Given the description of an element on the screen output the (x, y) to click on. 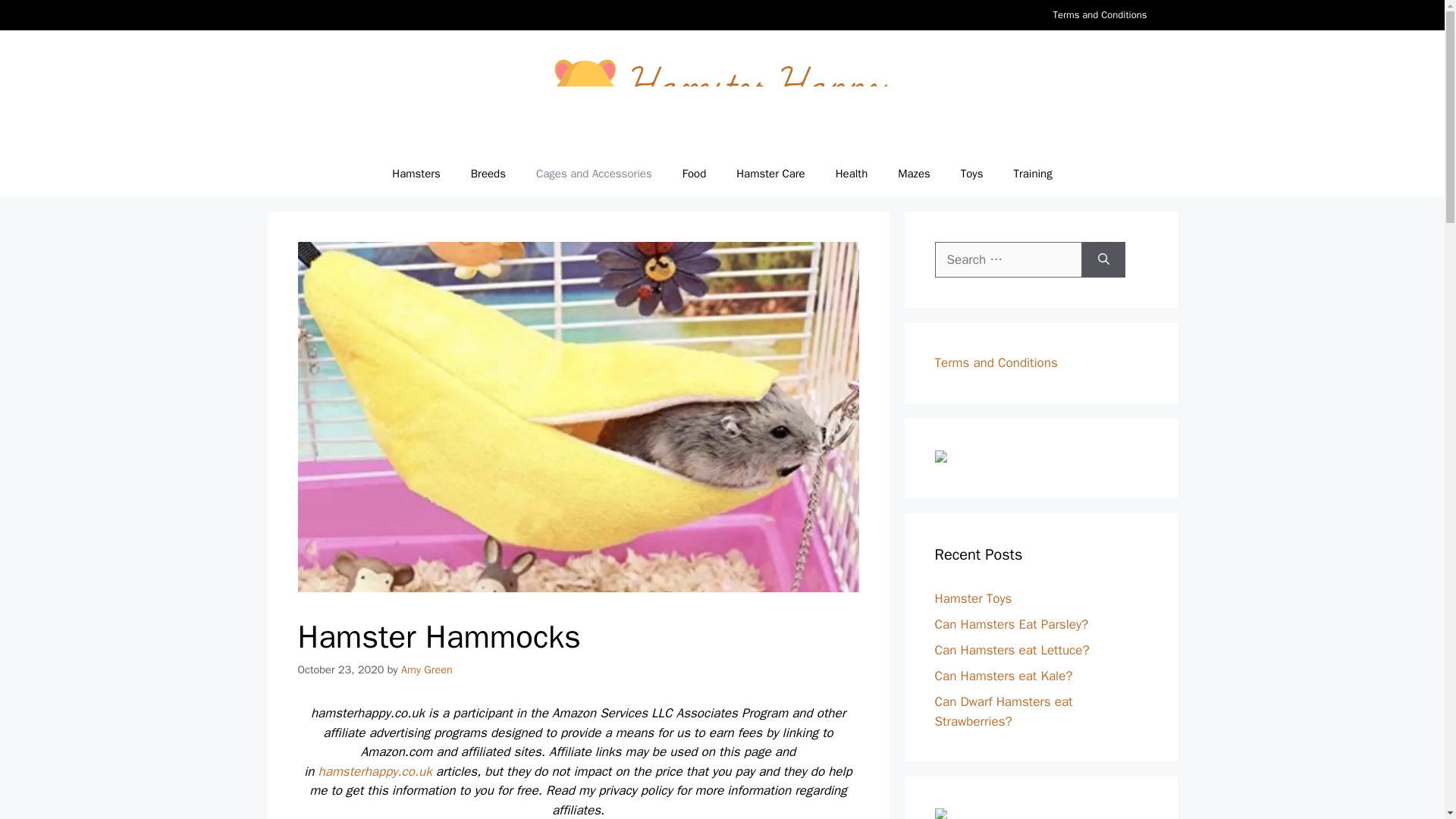
hamsterhappy.co.uk (375, 771)
Health (852, 173)
Can Hamsters Eat Parsley? (1010, 624)
Search for: (1007, 259)
Terms and Conditions (1098, 15)
Hamster Toys (972, 598)
Breeds (488, 173)
Hamster Care (769, 173)
Can Hamsters eat Lettuce? (1011, 650)
Can Hamsters eat Kale? (1002, 675)
